Given the description of an element on the screen output the (x, y) to click on. 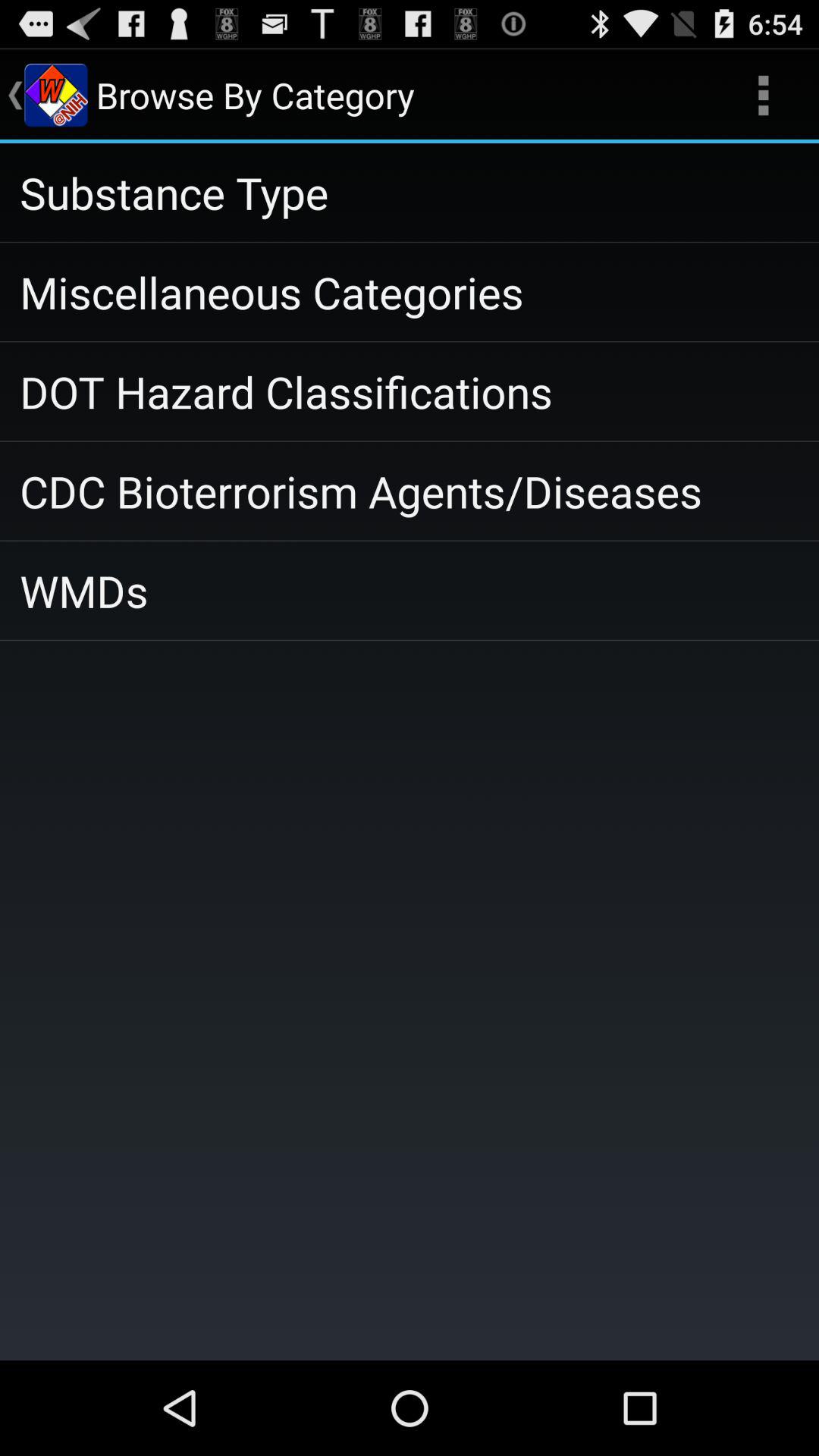
open item above cdc bioterrorism agents icon (409, 391)
